Given the description of an element on the screen output the (x, y) to click on. 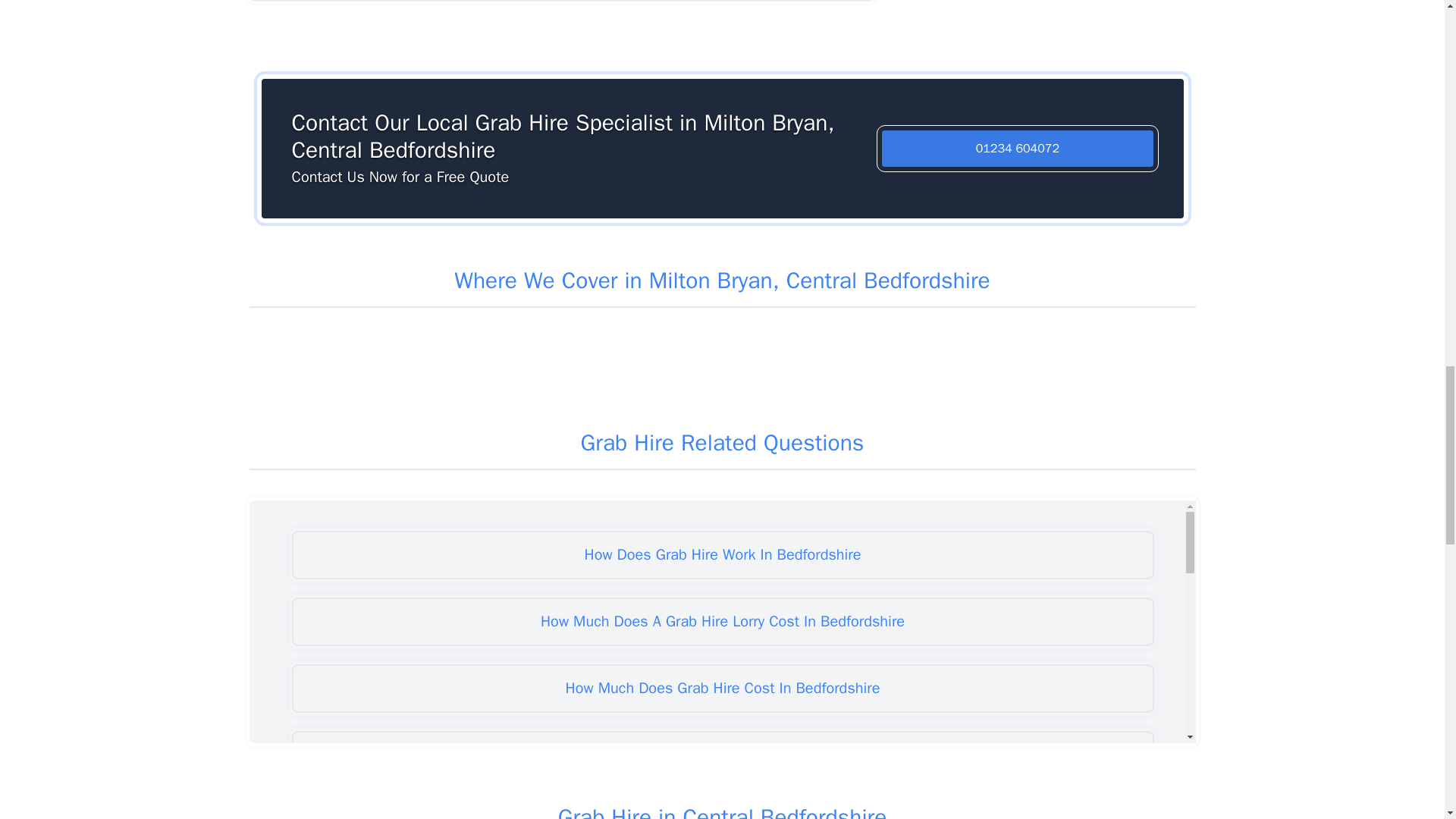
How Much Does Grab Hire Cost In Bedfordshire (722, 688)
How Much Does A Grab Hire Lorry Cost In Bedfordshire (722, 621)
How Does Grab Hire Work In Bedfordshire (722, 554)
How Much Does It Cost To Hire A Grab Lorry In Bedfordshire (722, 755)
01234 604072 (1017, 148)
How Much For Grab Hire In Bedfordshire (722, 808)
